Given the description of an element on the screen output the (x, y) to click on. 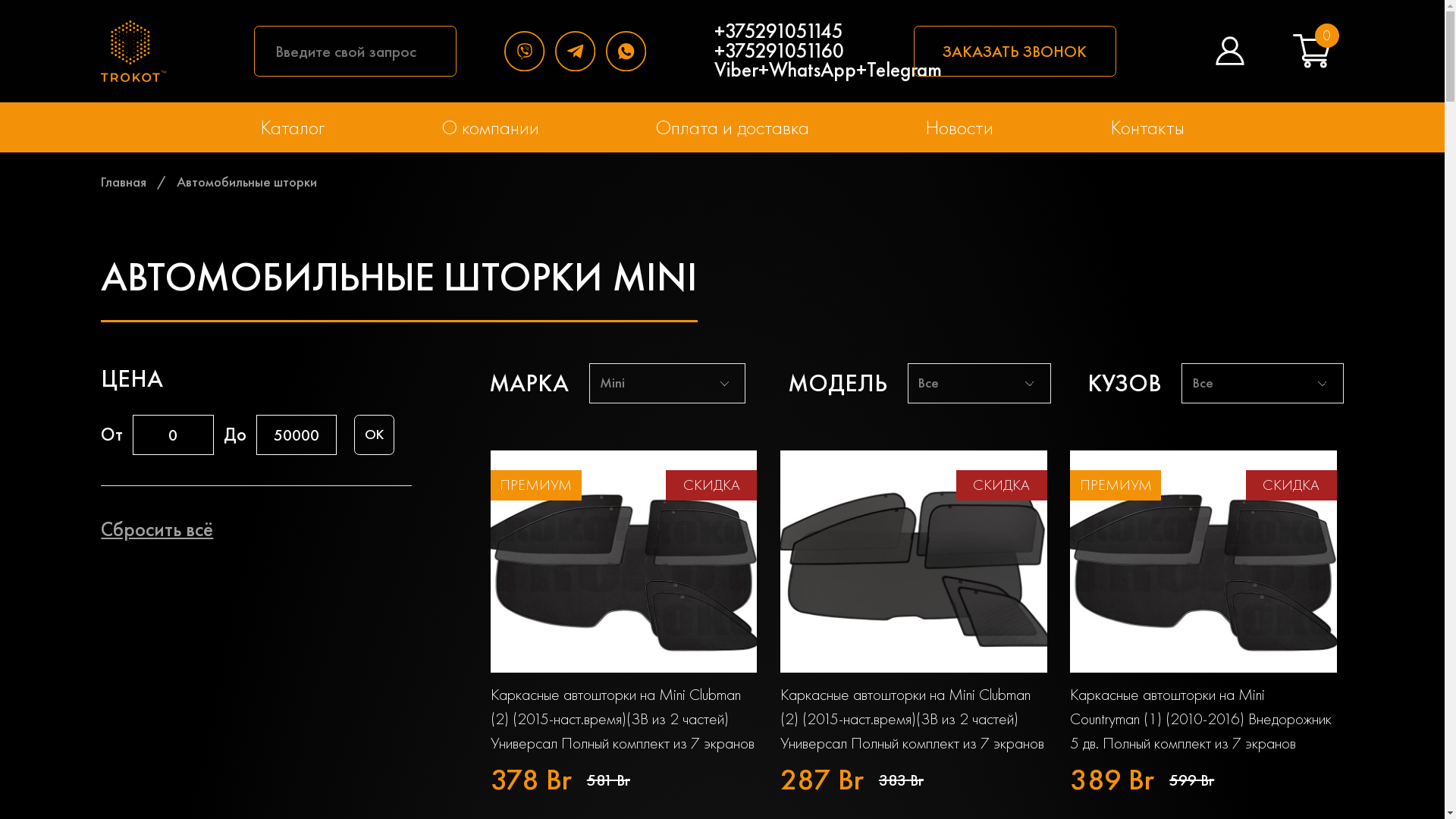
Viber Element type: hover (529, 51)
+375291051145 +375291051160 Viber+WhatsApp+Telegram Element type: text (827, 50)
WhatsApp Element type: hover (630, 51)
Telegram Element type: hover (580, 51)
